Given the description of an element on the screen output the (x, y) to click on. 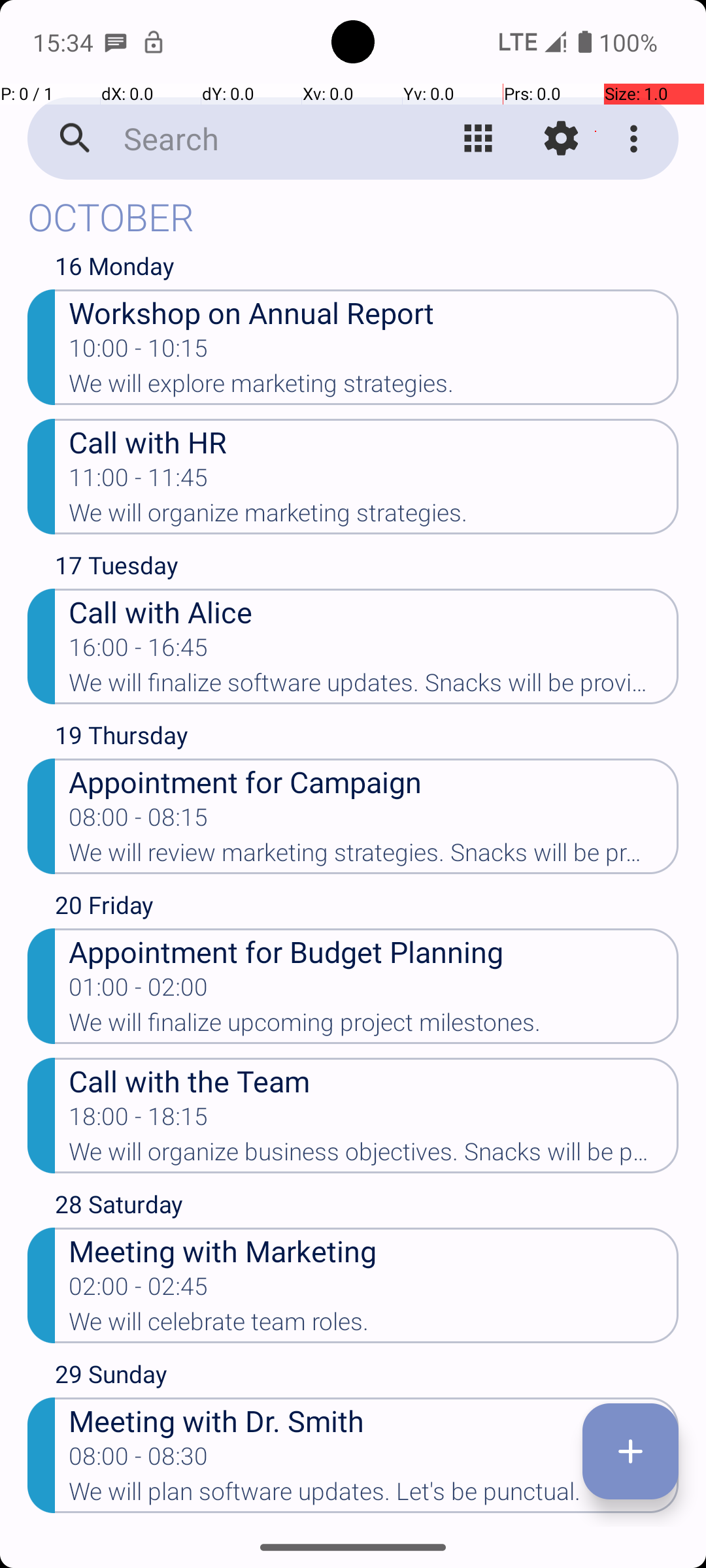
16 Monday Element type: android.widget.TextView (366, 268)
17 Tuesday Element type: android.widget.TextView (366, 568)
19 Thursday Element type: android.widget.TextView (366, 738)
20 Friday Element type: android.widget.TextView (366, 907)
28 Saturday Element type: android.widget.TextView (366, 1207)
29 Sunday Element type: android.widget.TextView (366, 1376)
10:00 - 10:15 Element type: android.widget.TextView (137, 351)
We will explore marketing strategies. Element type: android.widget.TextView (373, 387)
Call with HR Element type: android.widget.TextView (373, 440)
11:00 - 11:45 Element type: android.widget.TextView (137, 481)
We will organize marketing strategies. Element type: android.widget.TextView (373, 516)
Call with Alice Element type: android.widget.TextView (373, 610)
16:00 - 16:45 Element type: android.widget.TextView (137, 651)
We will finalize software updates. Snacks will be provided. Element type: android.widget.TextView (373, 686)
Appointment for Campaign Element type: android.widget.TextView (373, 780)
08:00 - 08:15 Element type: android.widget.TextView (137, 820)
We will review marketing strategies. Snacks will be provided. Element type: android.widget.TextView (373, 856)
01:00 - 02:00 Element type: android.widget.TextView (137, 990)
We will finalize upcoming project milestones. Element type: android.widget.TextView (373, 1026)
Call with the Team Element type: android.widget.TextView (373, 1079)
18:00 - 18:15 Element type: android.widget.TextView (137, 1120)
We will organize business objectives. Snacks will be provided. Element type: android.widget.TextView (373, 1155)
02:00 - 02:45 Element type: android.widget.TextView (137, 1289)
We will celebrate team roles. Element type: android.widget.TextView (373, 1325)
Meeting with Dr. Smith Element type: android.widget.TextView (373, 1419)
08:00 - 08:30 Element type: android.widget.TextView (137, 1459)
We will plan software updates. Let's be punctual. Element type: android.widget.TextView (373, 1495)
